Given the description of an element on the screen output the (x, y) to click on. 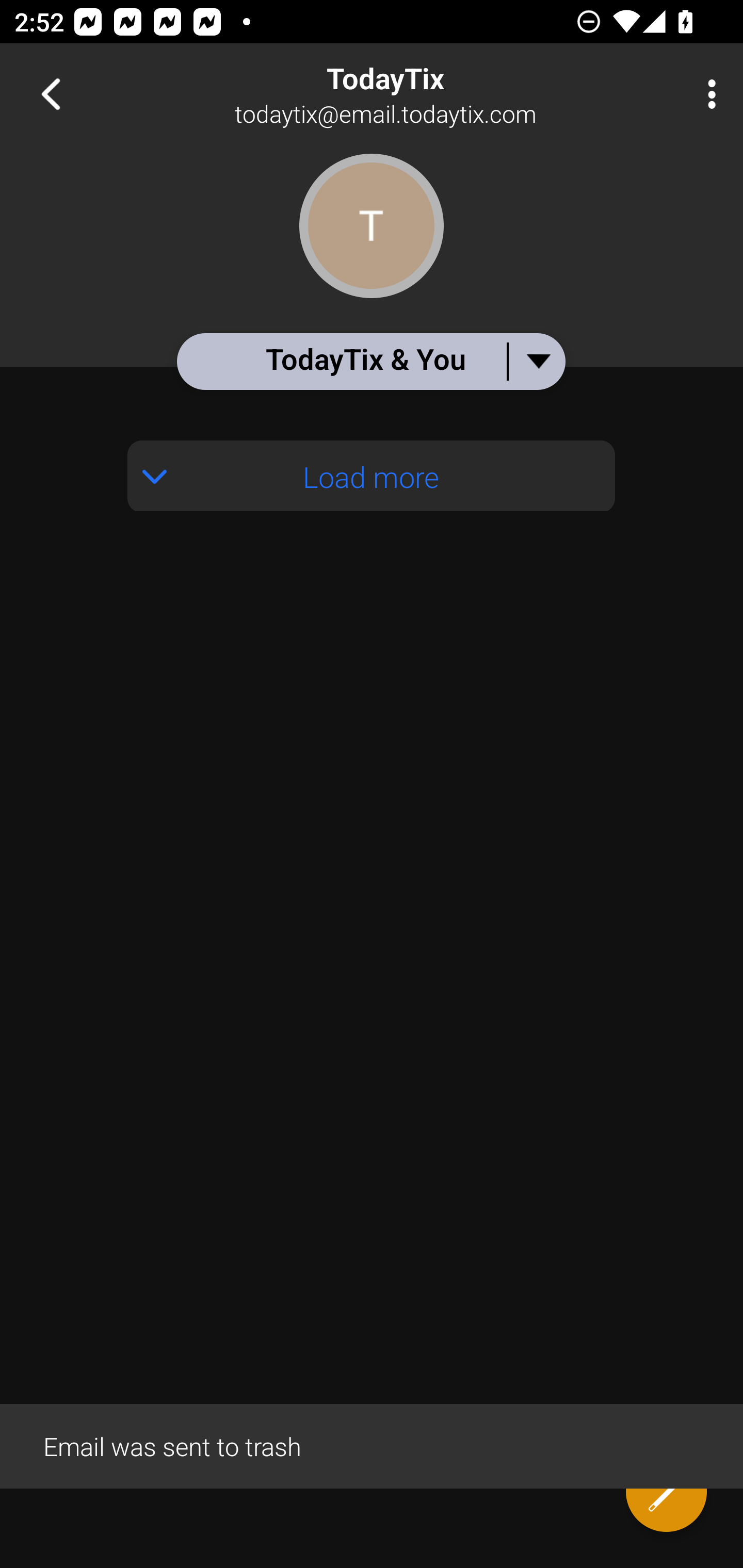
Navigate up (50, 93)
TodayTix todaytix@email.todaytix.com (436, 93)
More Options (706, 93)
TodayTix & You (370, 361)
Load more (371, 475)
Email was sent to trash (371, 1445)
